Given the description of an element on the screen output the (x, y) to click on. 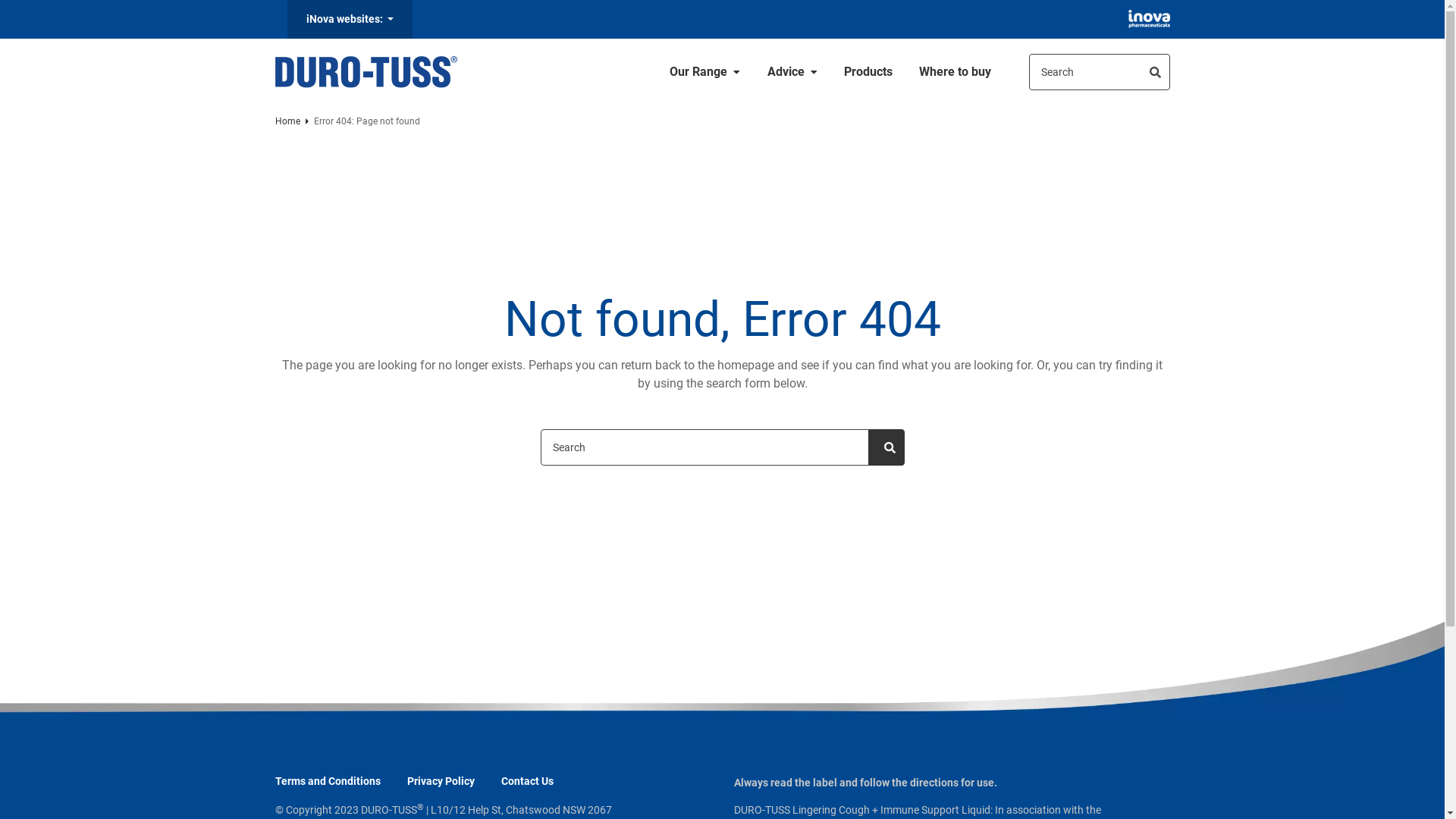
Where to buy Element type: text (954, 71)
Contact Us Element type: text (526, 780)
Advice Element type: text (792, 71)
iNova websites: Element type: text (348, 19)
Home Element type: text (286, 121)
Products Element type: text (868, 71)
Duro-Tuss Element type: hover (365, 71)
Our Range Element type: text (705, 71)
Terms and Conditions Element type: text (327, 780)
Search Element type: hover (1098, 71)
Privacy Policy Element type: text (440, 780)
